Given the description of an element on the screen output the (x, y) to click on. 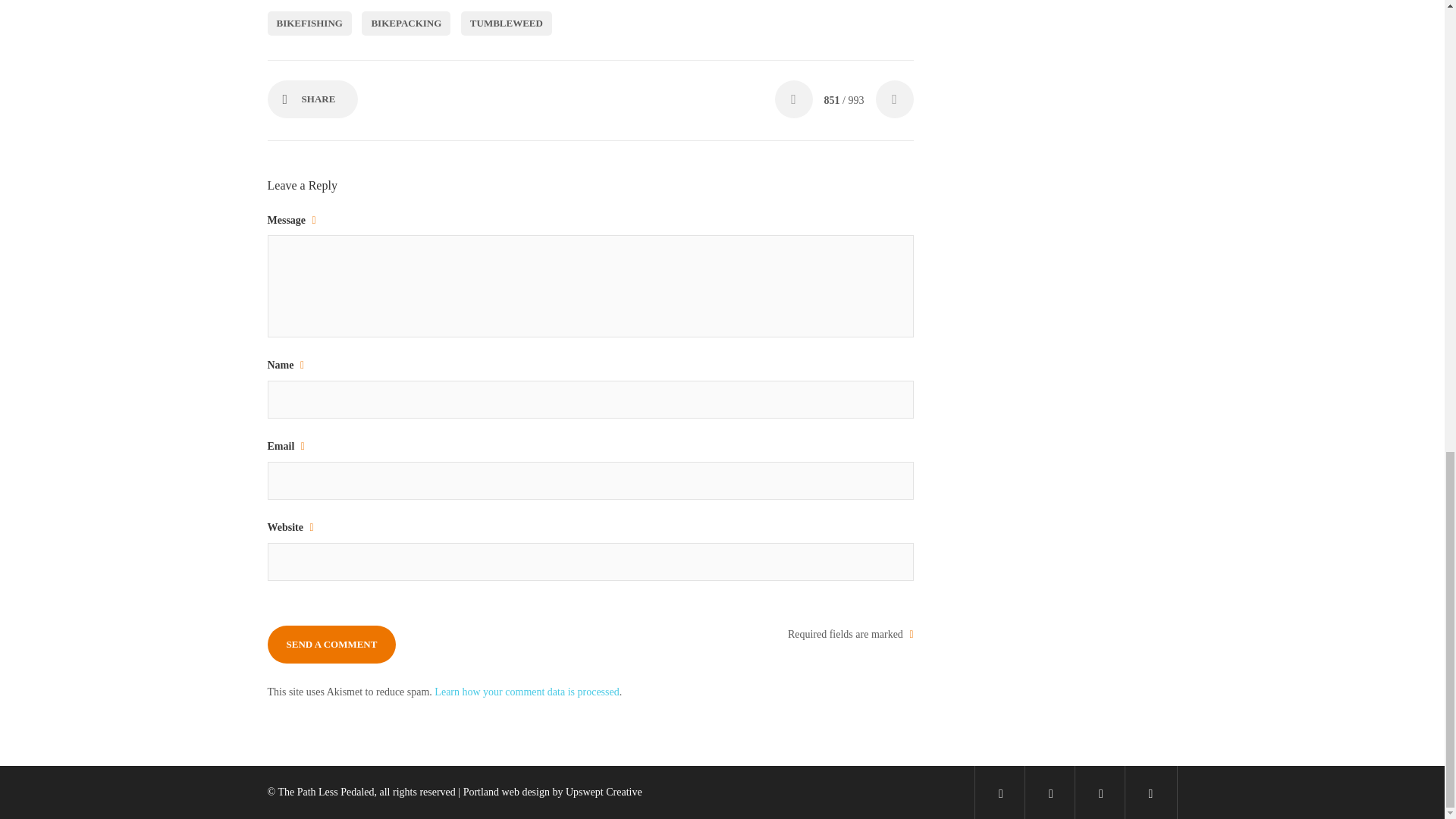
Learn how your comment data is processed (525, 691)
TUMBLEWEED (506, 23)
BIKEFISHING (308, 23)
Send a comment (331, 644)
BIKEPACKING (405, 23)
Send a comment (331, 644)
